Given the description of an element on the screen output the (x, y) to click on. 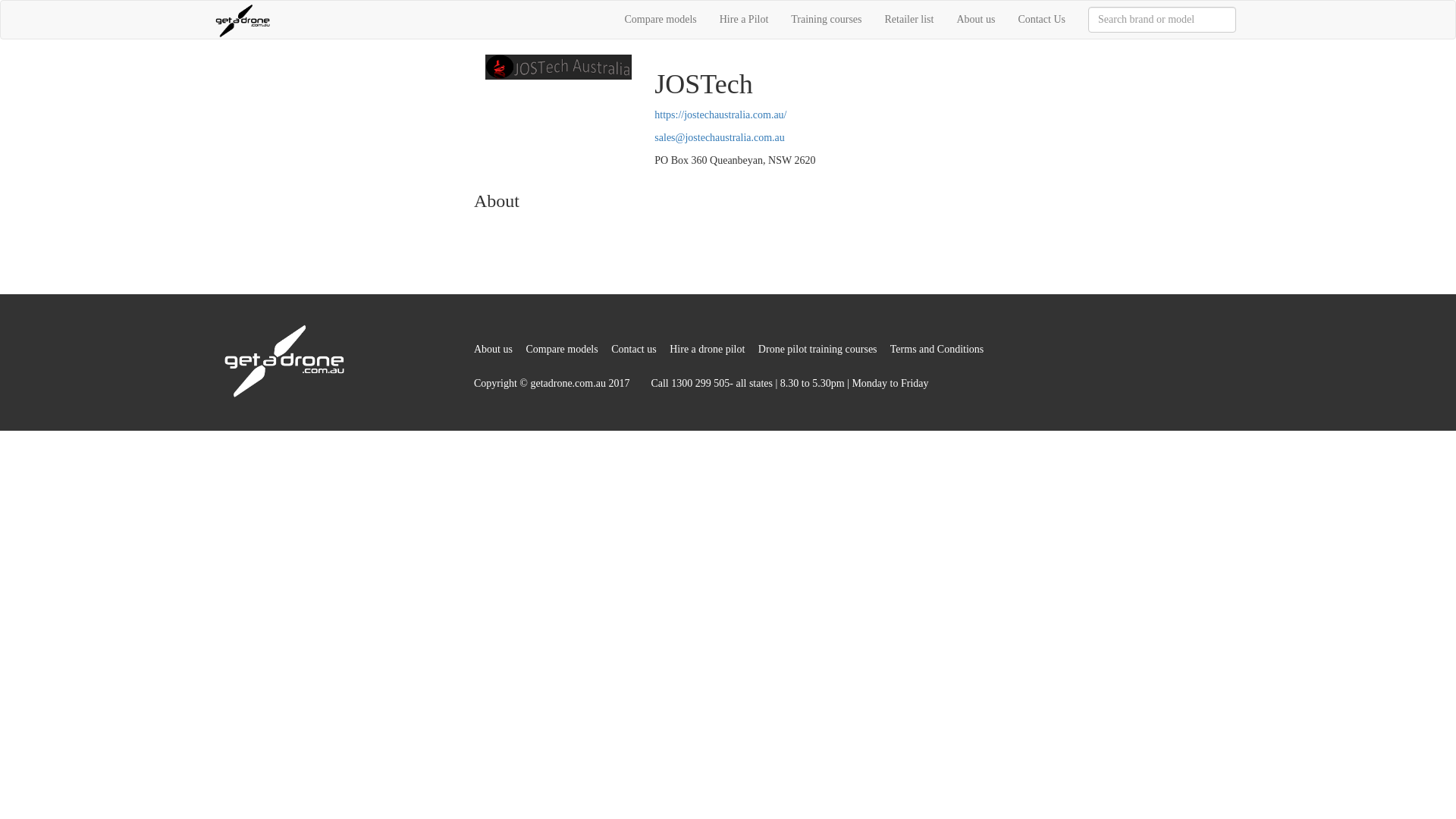
Compare models Element type: text (561, 348)
Drone pilot training courses Element type: text (817, 348)
Training courses Element type: text (825, 19)
About us Element type: text (975, 19)
About us Element type: text (492, 348)
Compare models Element type: text (659, 19)
Contact Us Element type: text (1041, 19)
Hire a Pilot Element type: text (744, 19)
Get a Drone Element type: hover (284, 358)
sales@jostechaustralia.com.au Element type: text (719, 137)
https://jostechaustralia.com.au/ Element type: text (720, 114)
1300 299 505 Element type: text (700, 383)
Terms and Conditions Element type: text (936, 348)
Get a Drone Element type: hover (242, 19)
Hire a drone pilot Element type: text (706, 348)
Contact us Element type: text (633, 348)
Retailer list Element type: text (909, 19)
